Given the description of an element on the screen output the (x, y) to click on. 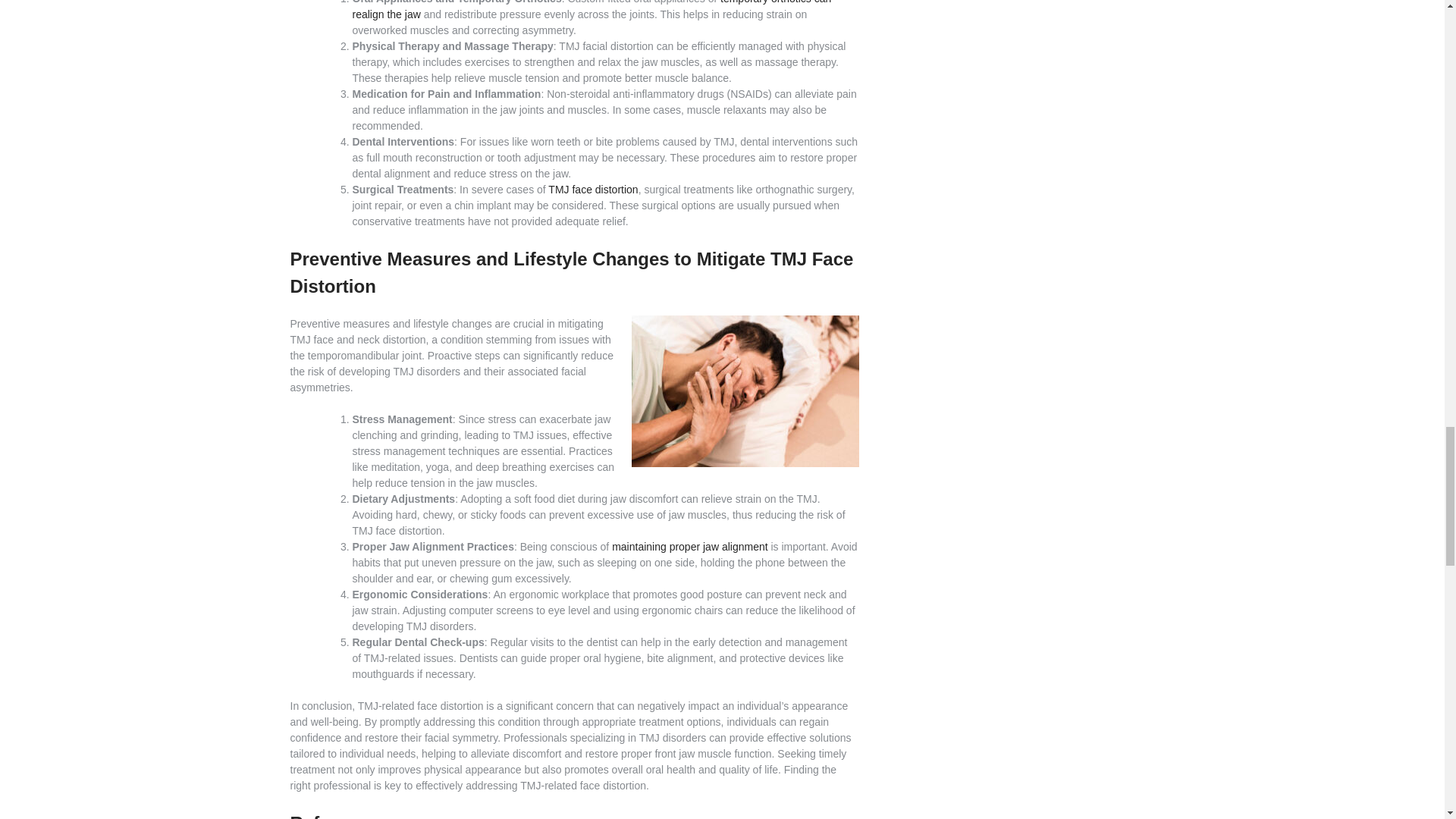
temporary orthotics can realign the jaw (591, 10)
maintaining proper jaw alignment (689, 546)
TMJ face distortion (592, 189)
